Given the description of an element on the screen output the (x, y) to click on. 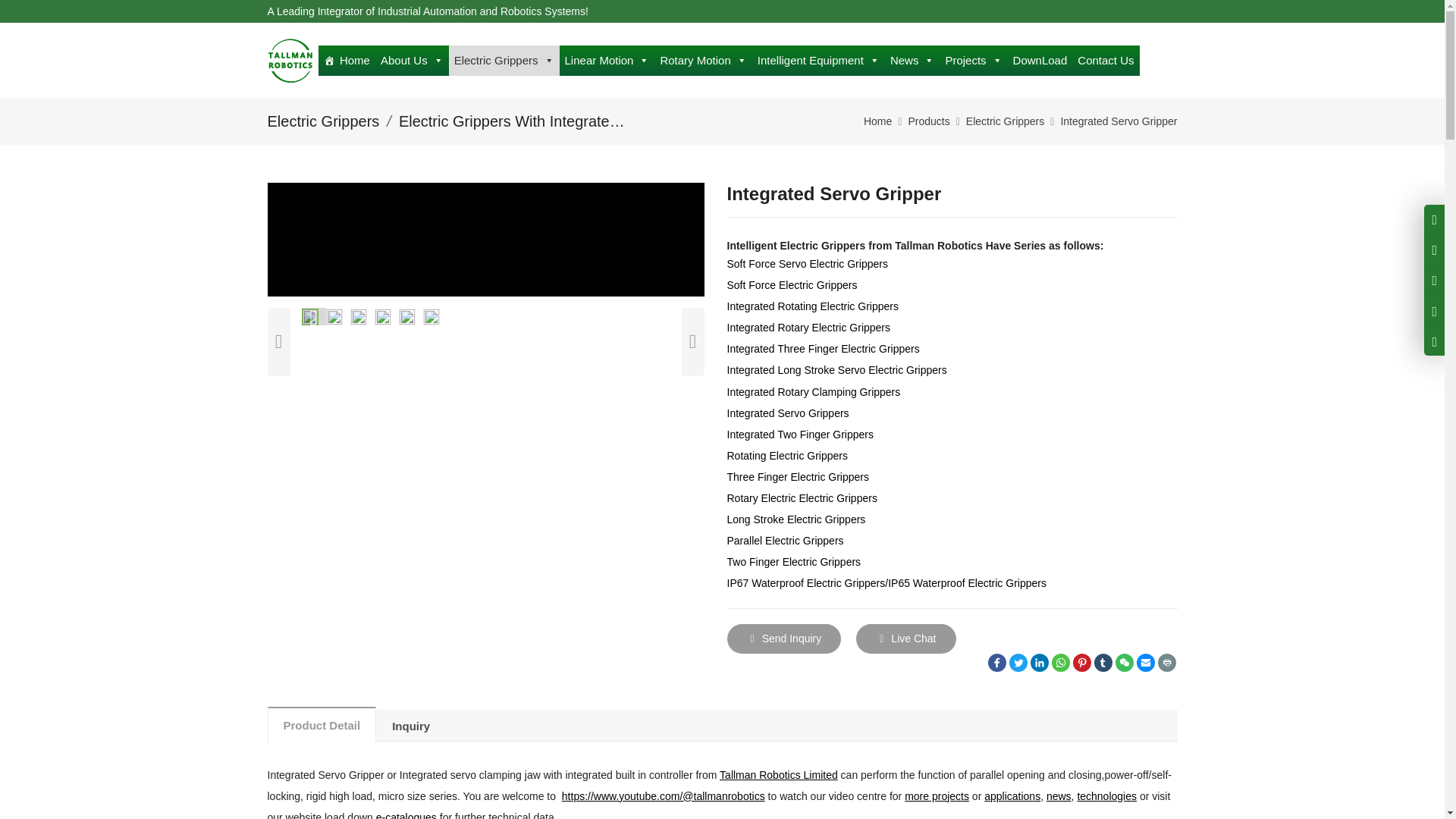
Home (346, 60)
About Us (411, 60)
Electric Grippers (503, 60)
